Given the description of an element on the screen output the (x, y) to click on. 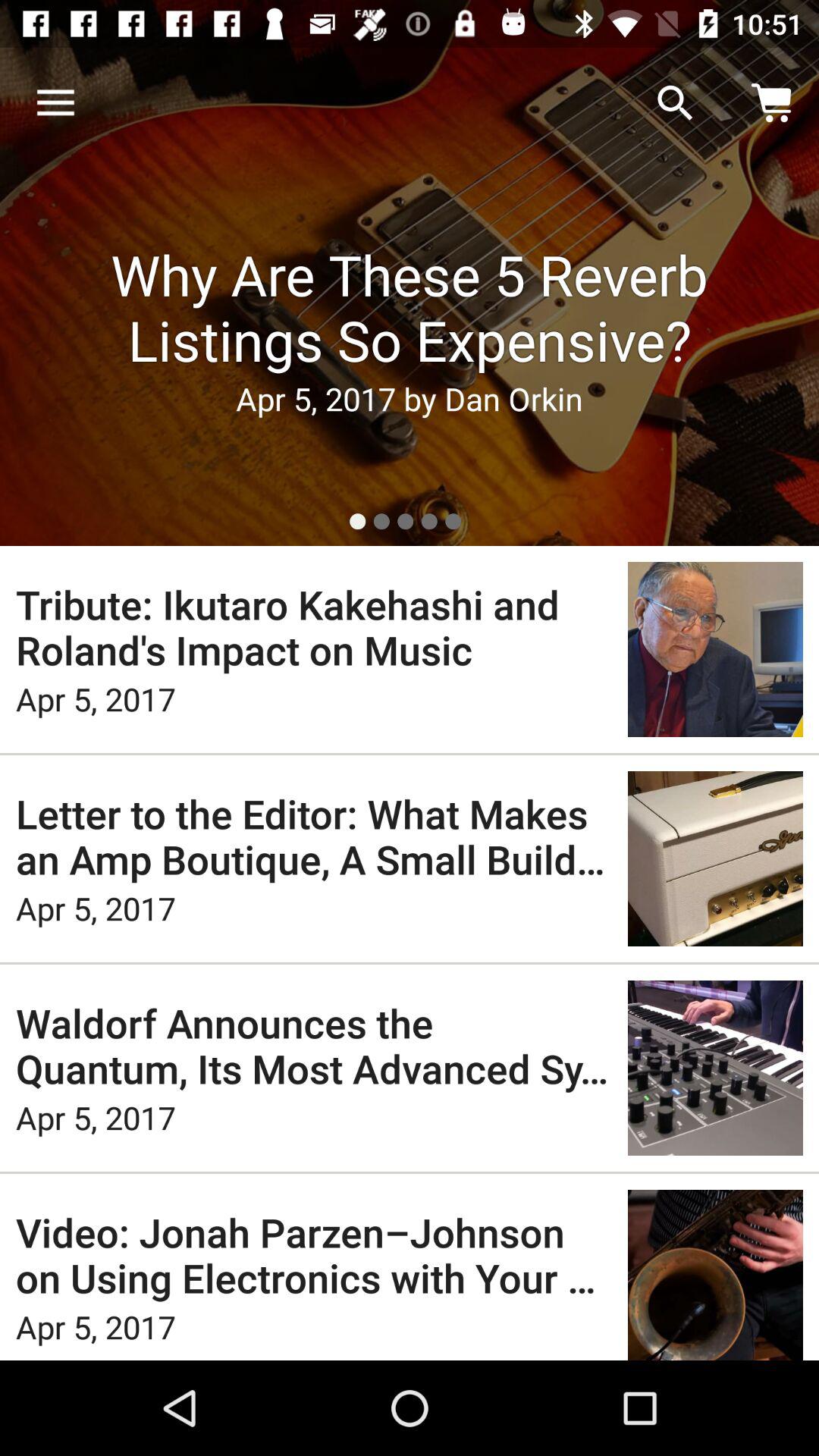
open icon above why are these (675, 103)
